Given the description of an element on the screen output the (x, y) to click on. 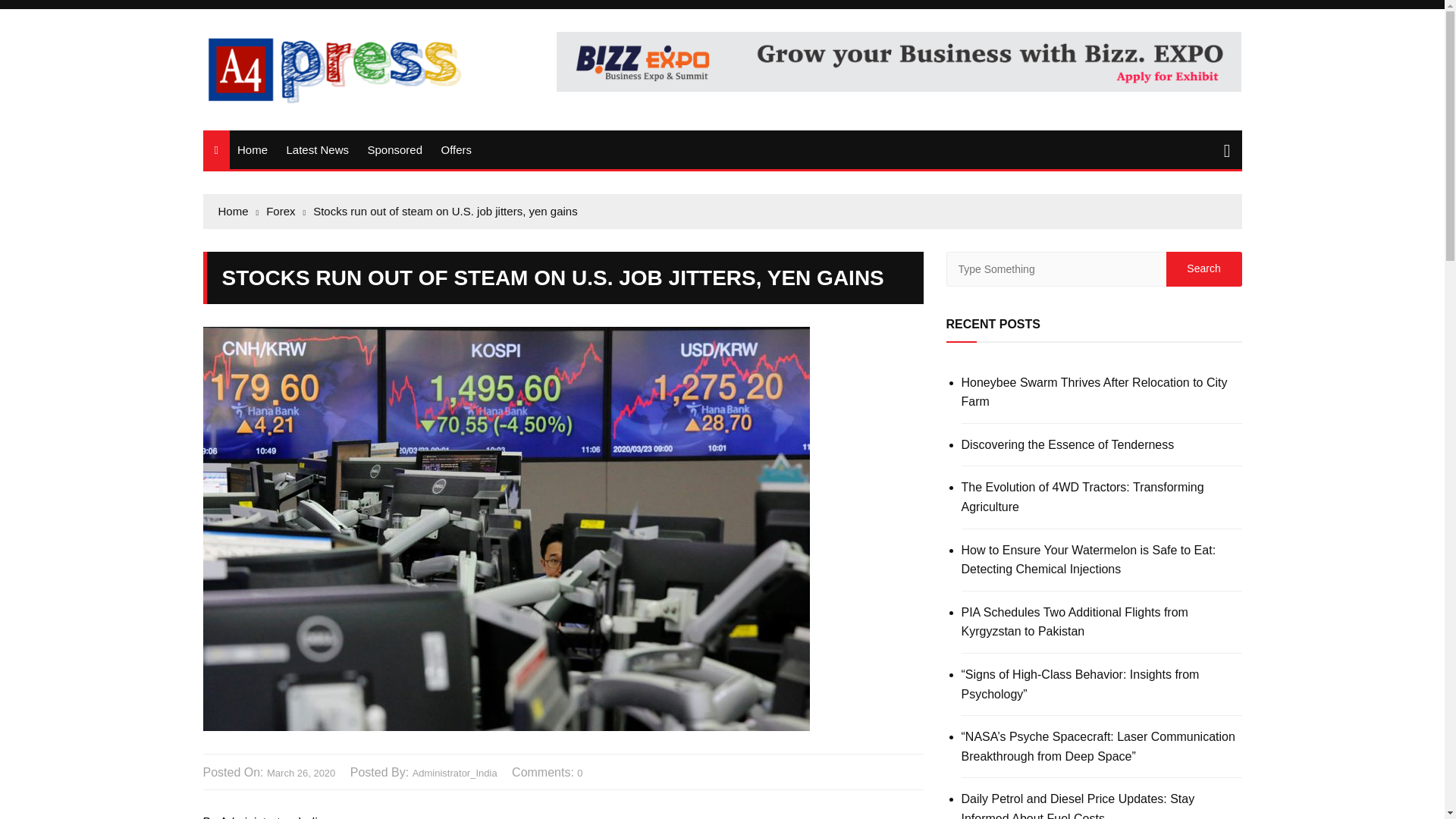
Sponsored (394, 149)
Offers (455, 149)
Home (238, 211)
Honeybee Swarm Thrives After Relocation to City Farm (1100, 392)
Discovering the Essence of Tenderness (1100, 444)
Latest News (317, 149)
Search (1203, 268)
Home (252, 149)
Forex (285, 211)
